Given the description of an element on the screen output the (x, y) to click on. 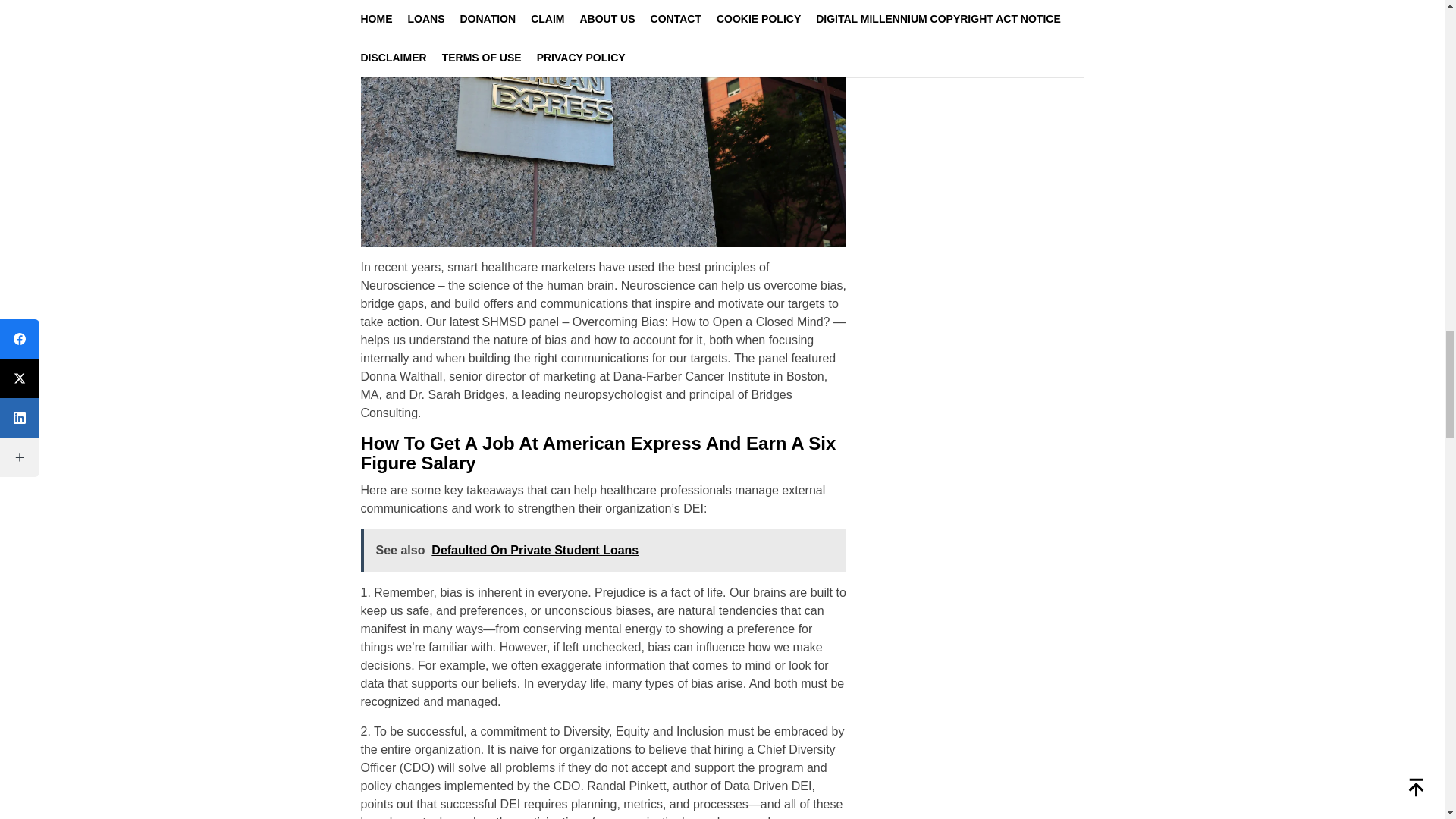
See also  Defaulted On Private Student Loans (603, 550)
